Given the description of an element on the screen output the (x, y) to click on. 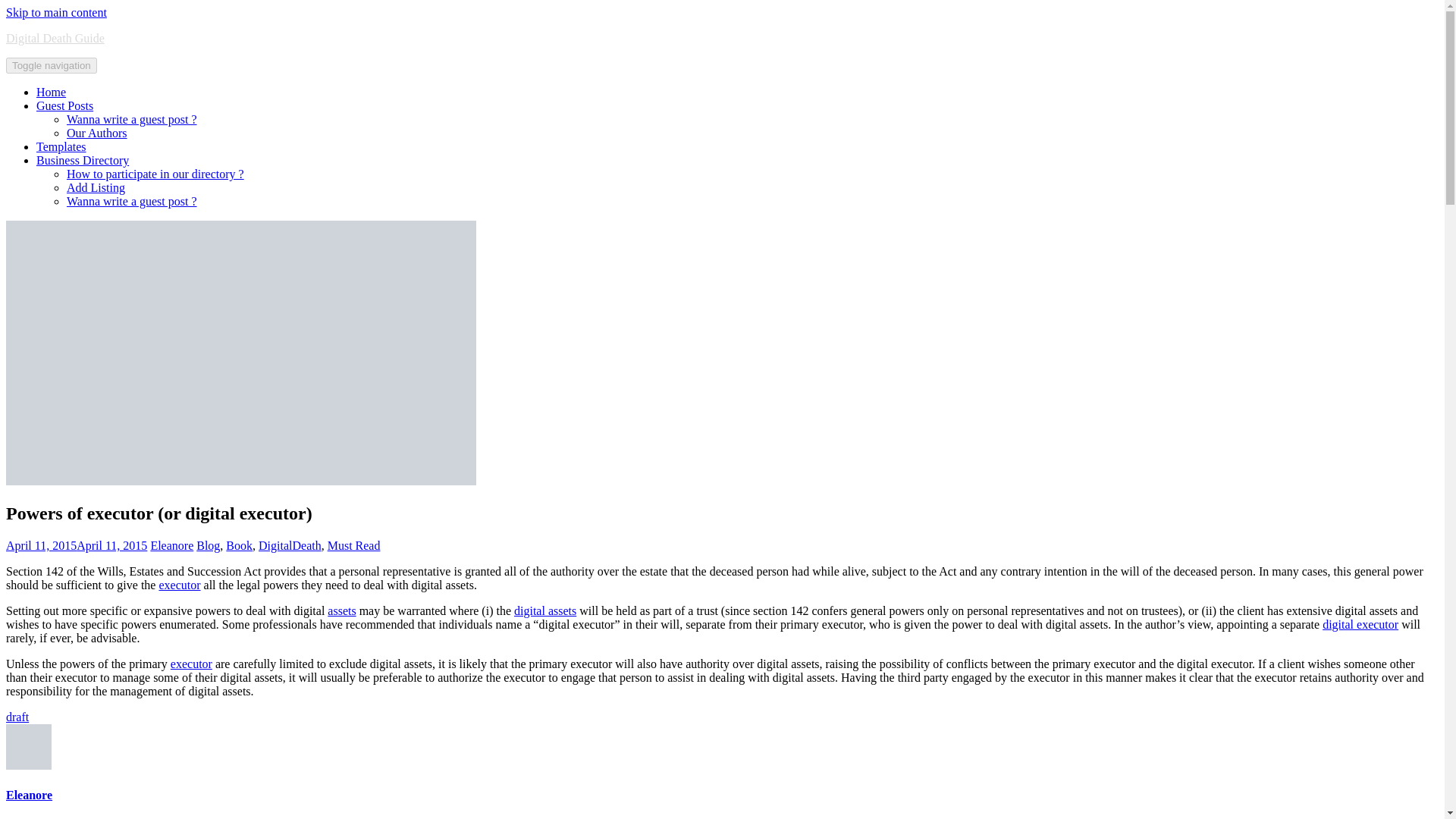
Digital Death Guide (54, 38)
assets (341, 610)
Guest Posts (64, 105)
Toggle navigation (51, 65)
Posts tagged with assets (341, 610)
Eleanore (28, 794)
digital executor (1359, 624)
How to participate in our directory ? (155, 173)
Wanna write a guest post ? (131, 119)
digital assets (544, 610)
